Given the description of an element on the screen output the (x, y) to click on. 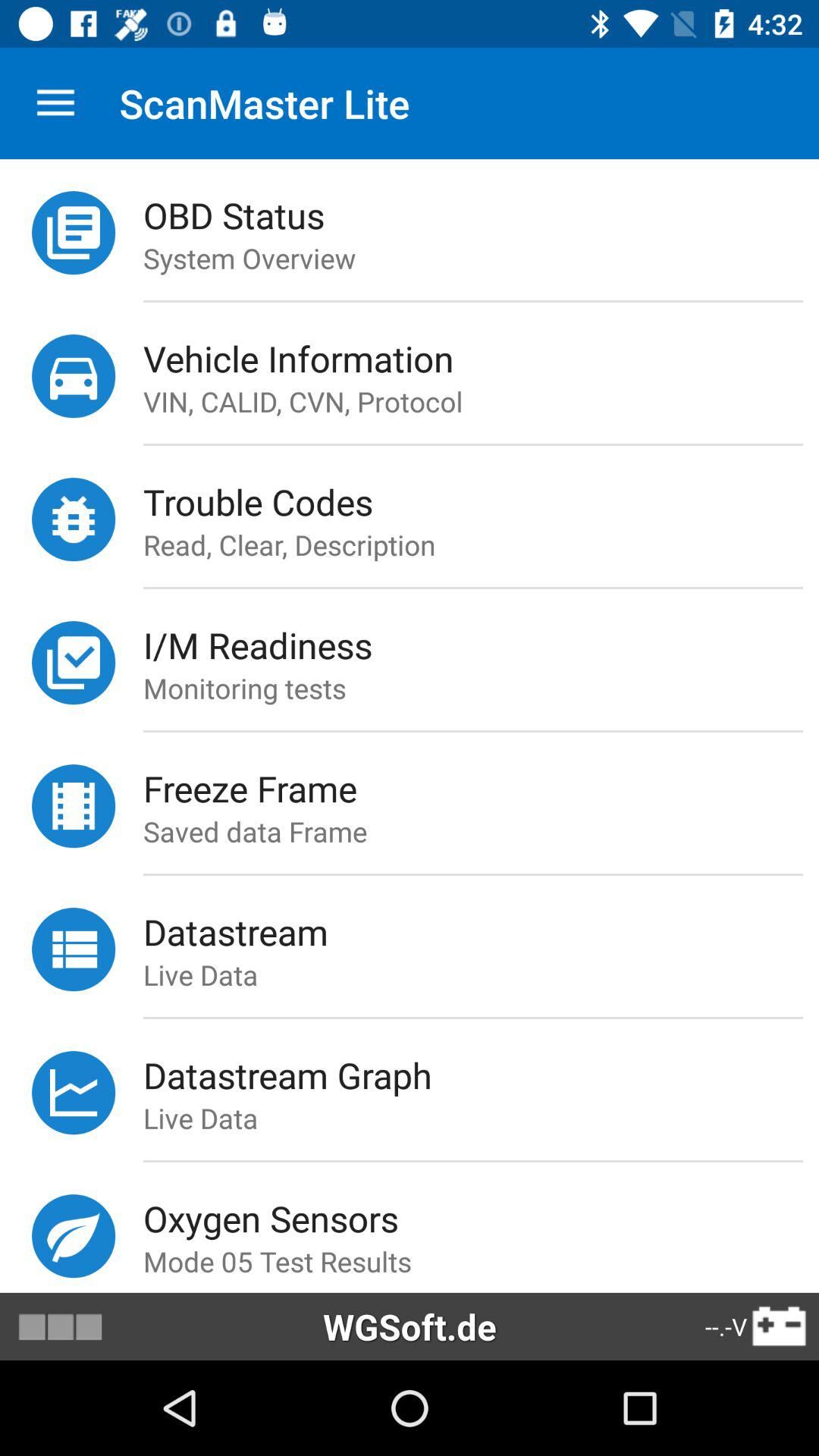
press the item below the monitoring tests (473, 731)
